Given the description of an element on the screen output the (x, y) to click on. 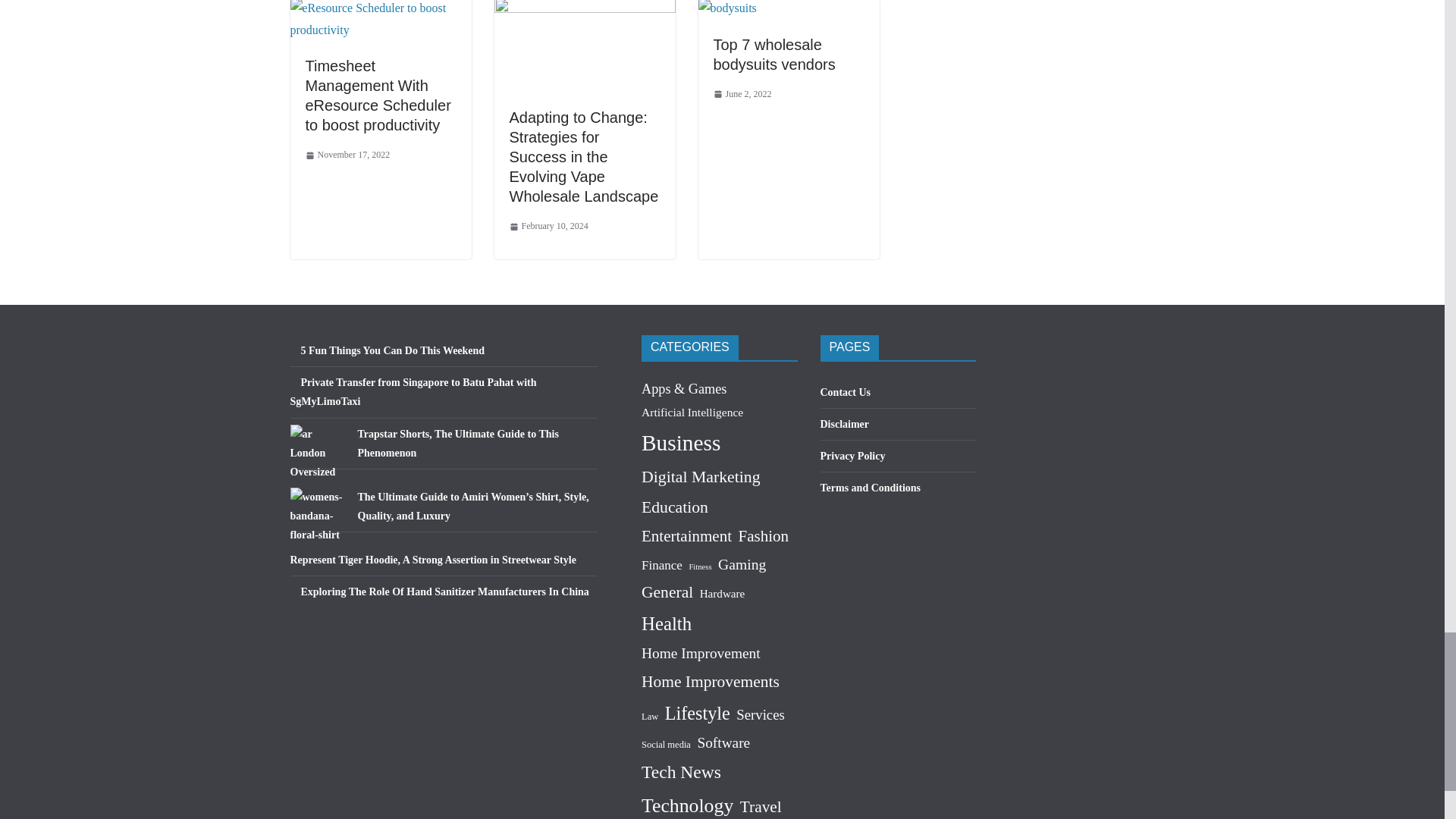
November 17, 2022 (347, 155)
9:07 PM (347, 155)
